Given the description of an element on the screen output the (x, y) to click on. 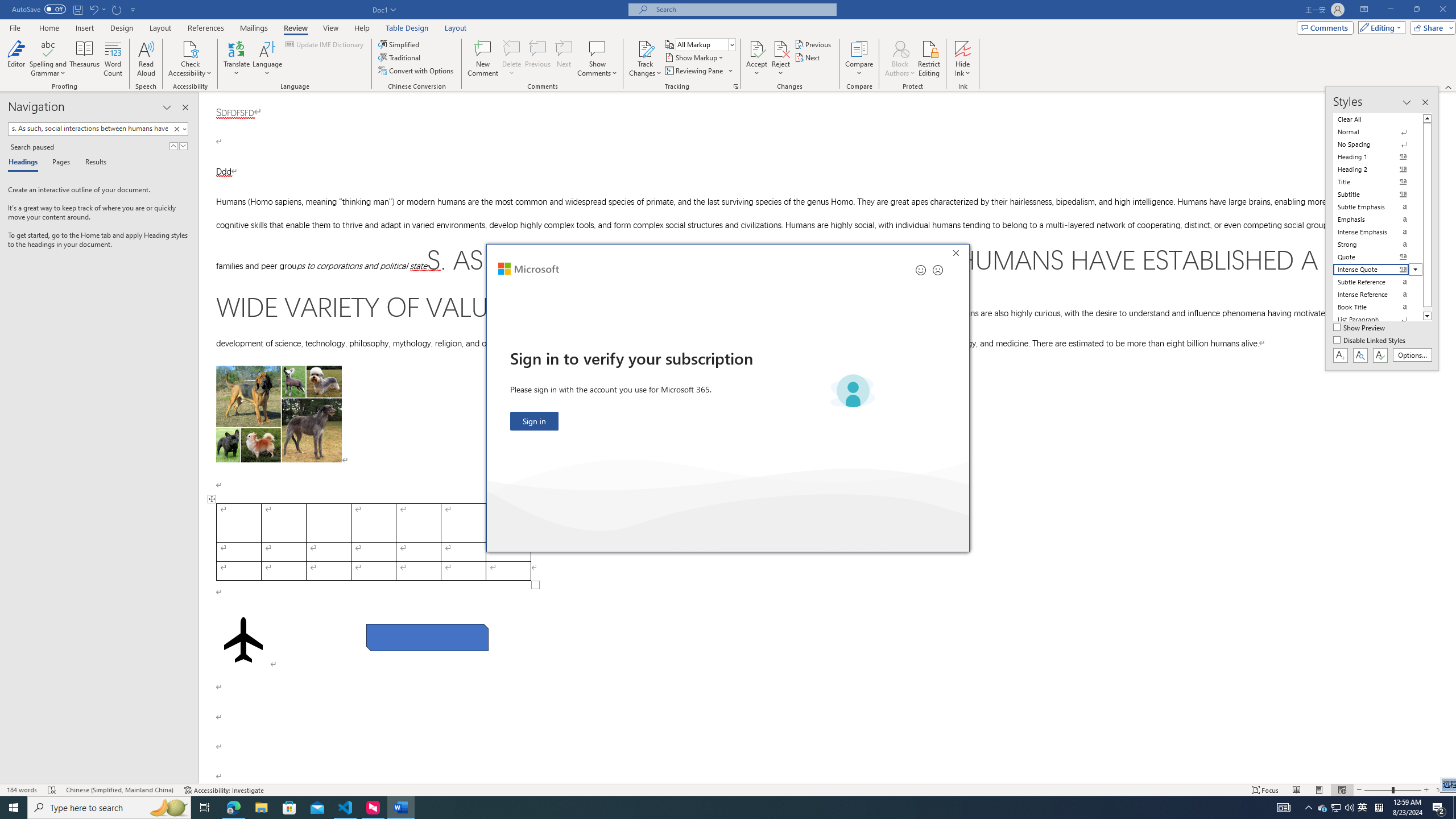
Word Count 184 words (22, 790)
List Paragraph (1377, 319)
Block Authors (900, 58)
Restrict Editing (929, 58)
Clear All (1377, 119)
Sign in (534, 420)
